Given the description of an element on the screen output the (x, y) to click on. 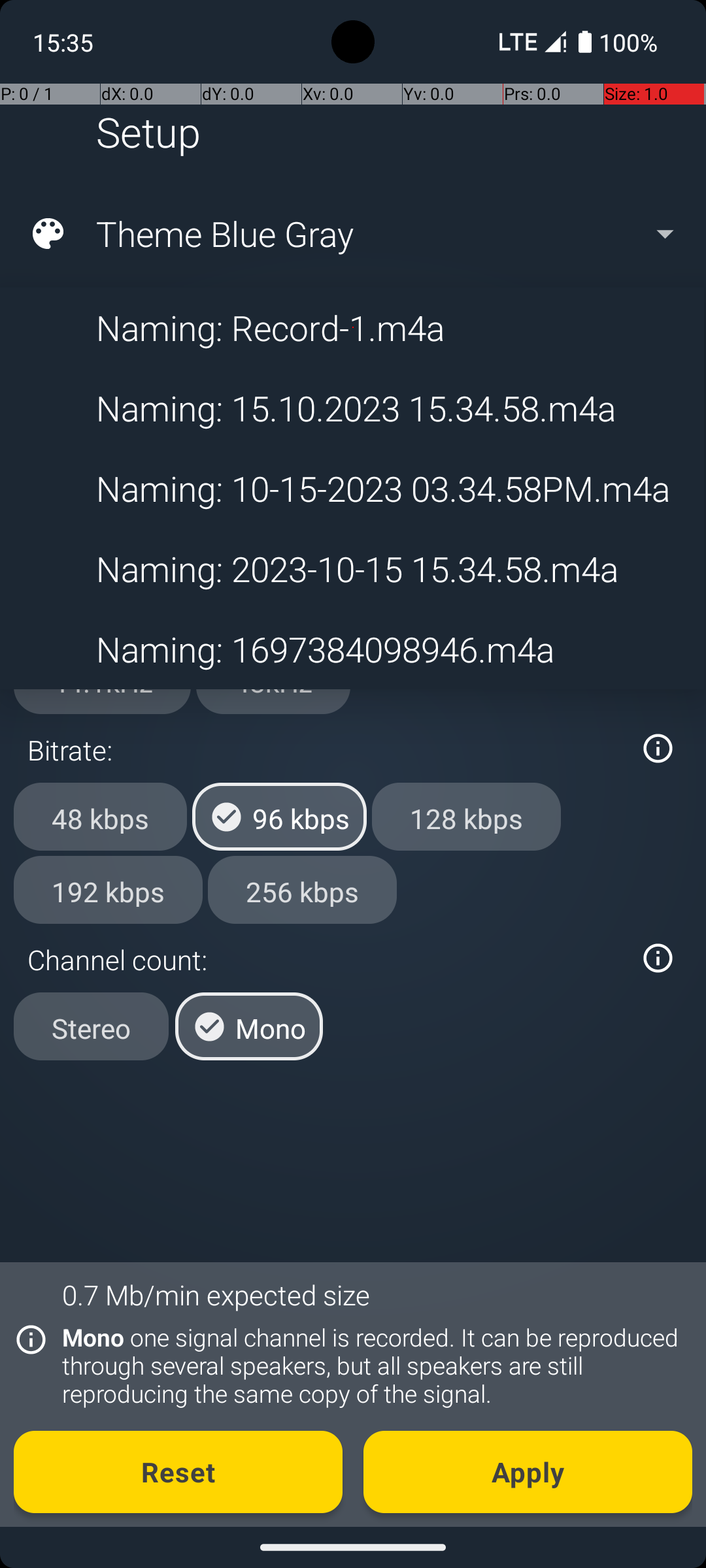
Naming: 15.10.2023 15.34.58.m4a Element type: android.widget.TextView (352, 407)
Naming: 10-15-2023 03.34.58PM.m4a Element type: android.widget.TextView (352, 488)
Naming: 2023-10-15 15.34.58.m4a Element type: android.widget.TextView (352, 568)
Naming: 1697384098946.m4a Element type: android.widget.TextView (352, 648)
